Given the description of an element on the screen output the (x, y) to click on. 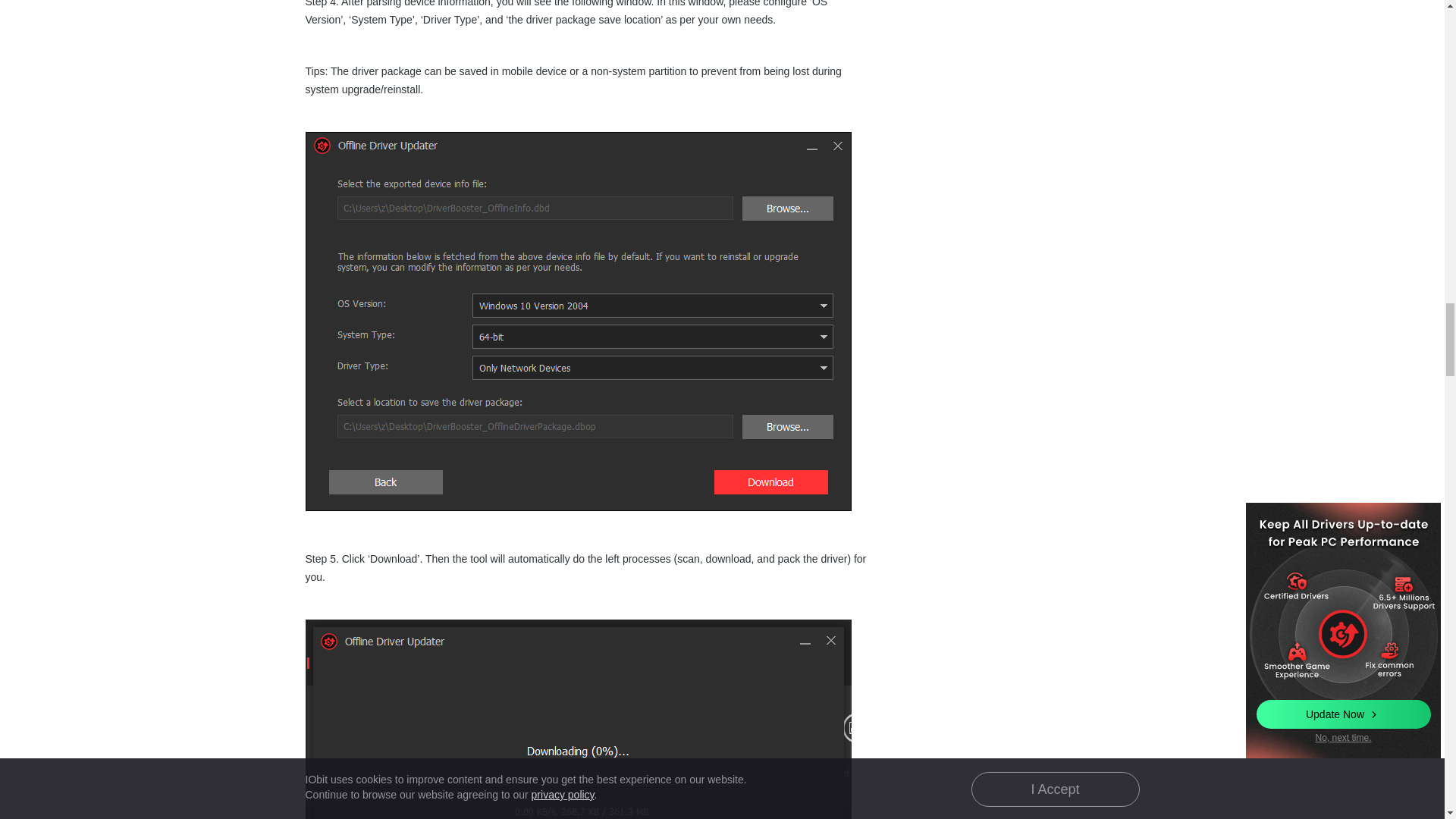
1594621711217268.png (577, 719)
